Given the description of an element on the screen output the (x, y) to click on. 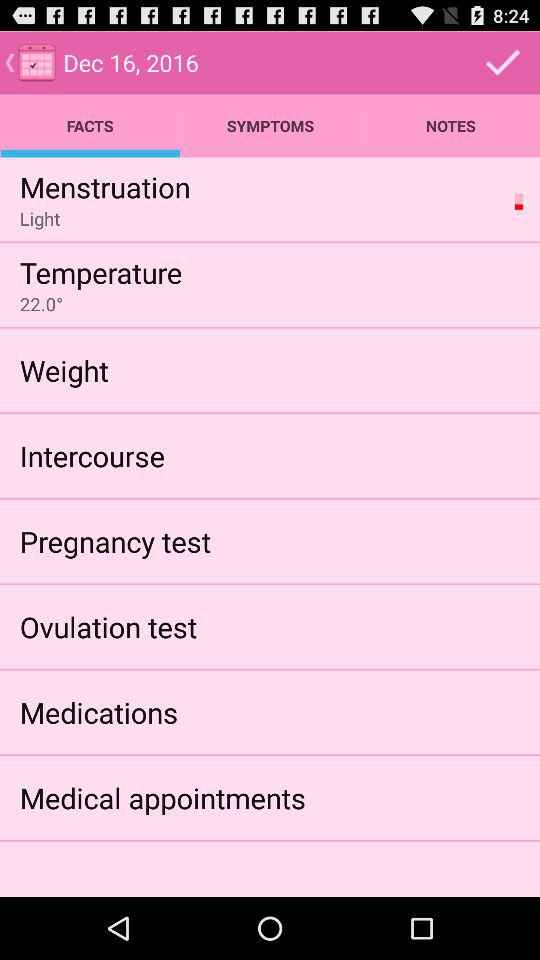
launch the item below ovulation test app (98, 712)
